Given the description of an element on the screen output the (x, y) to click on. 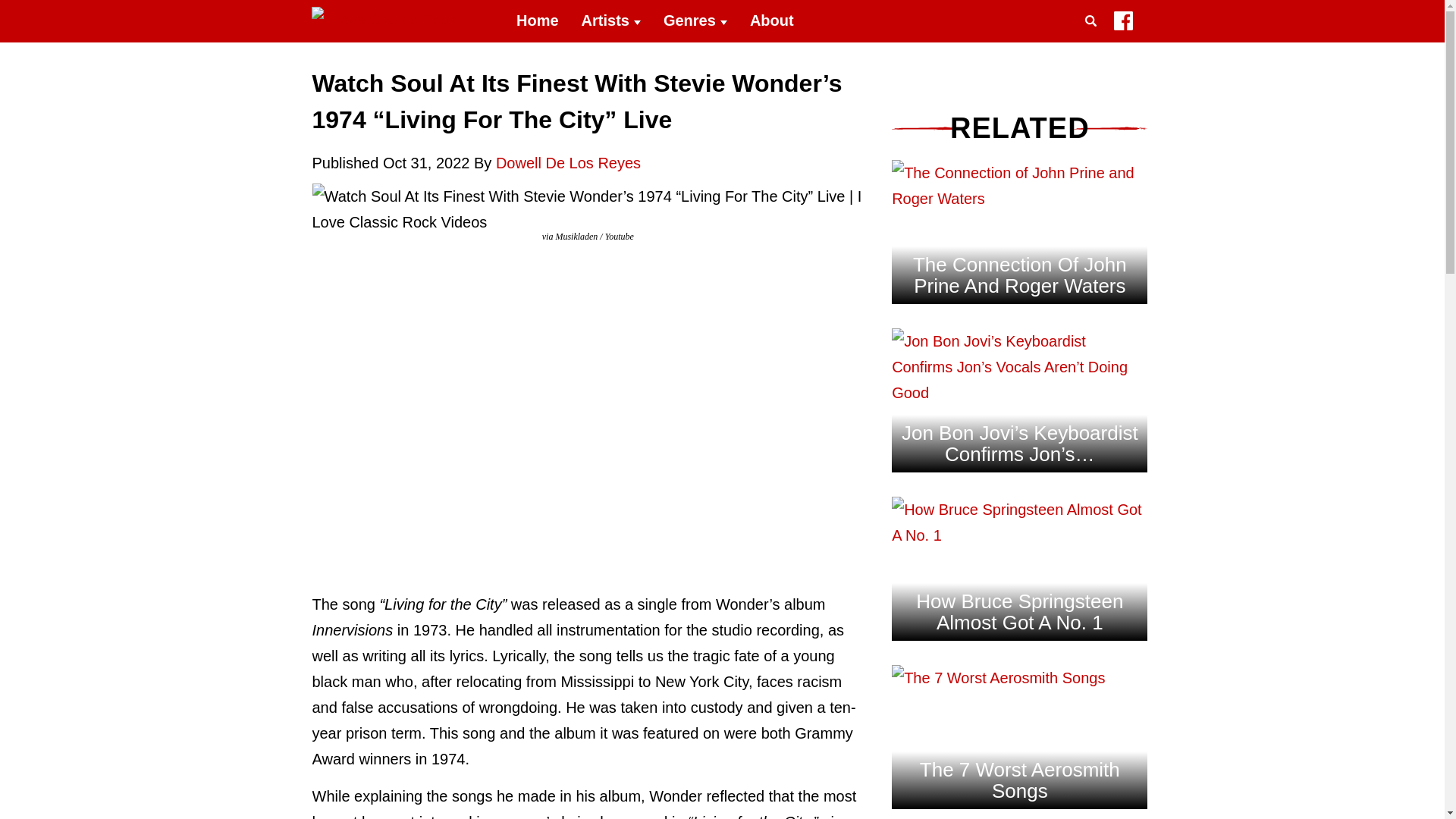
About (771, 21)
The Connection of John Prine and Roger Waters (1019, 198)
Home (537, 21)
How Bruce Springsteen Almost Got A No. 1 (1019, 535)
Search (1093, 39)
How Bruce Springsteen Almost Got A No. 1 (1019, 521)
I Love Classic Rock on Facebook (1122, 24)
Search (1093, 39)
The Connection of John Prine and Roger Waters (1019, 185)
Genres (695, 21)
Artists (611, 21)
The Connection of John Prine and Roger Waters (1019, 274)
